Given the description of an element on the screen output the (x, y) to click on. 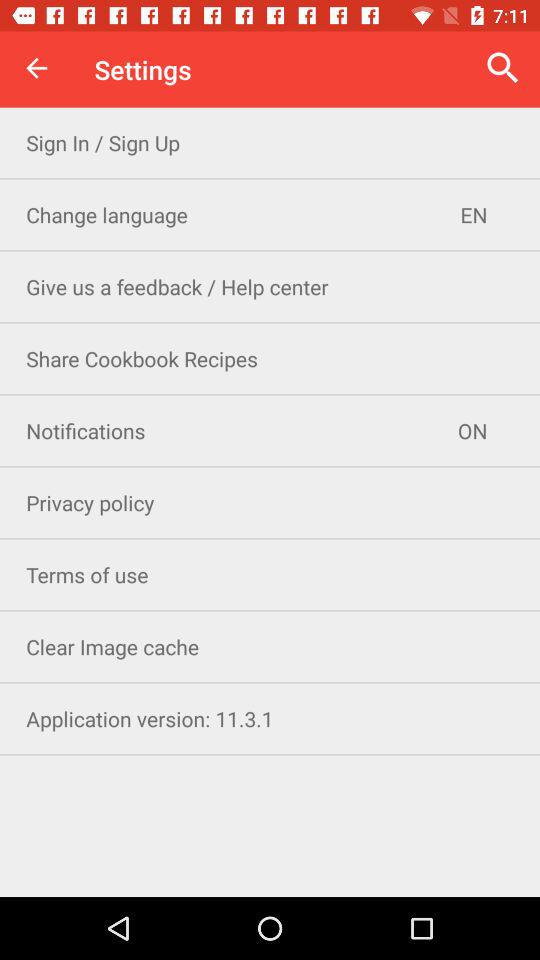
tap item next to settings (36, 68)
